Given the description of an element on the screen output the (x, y) to click on. 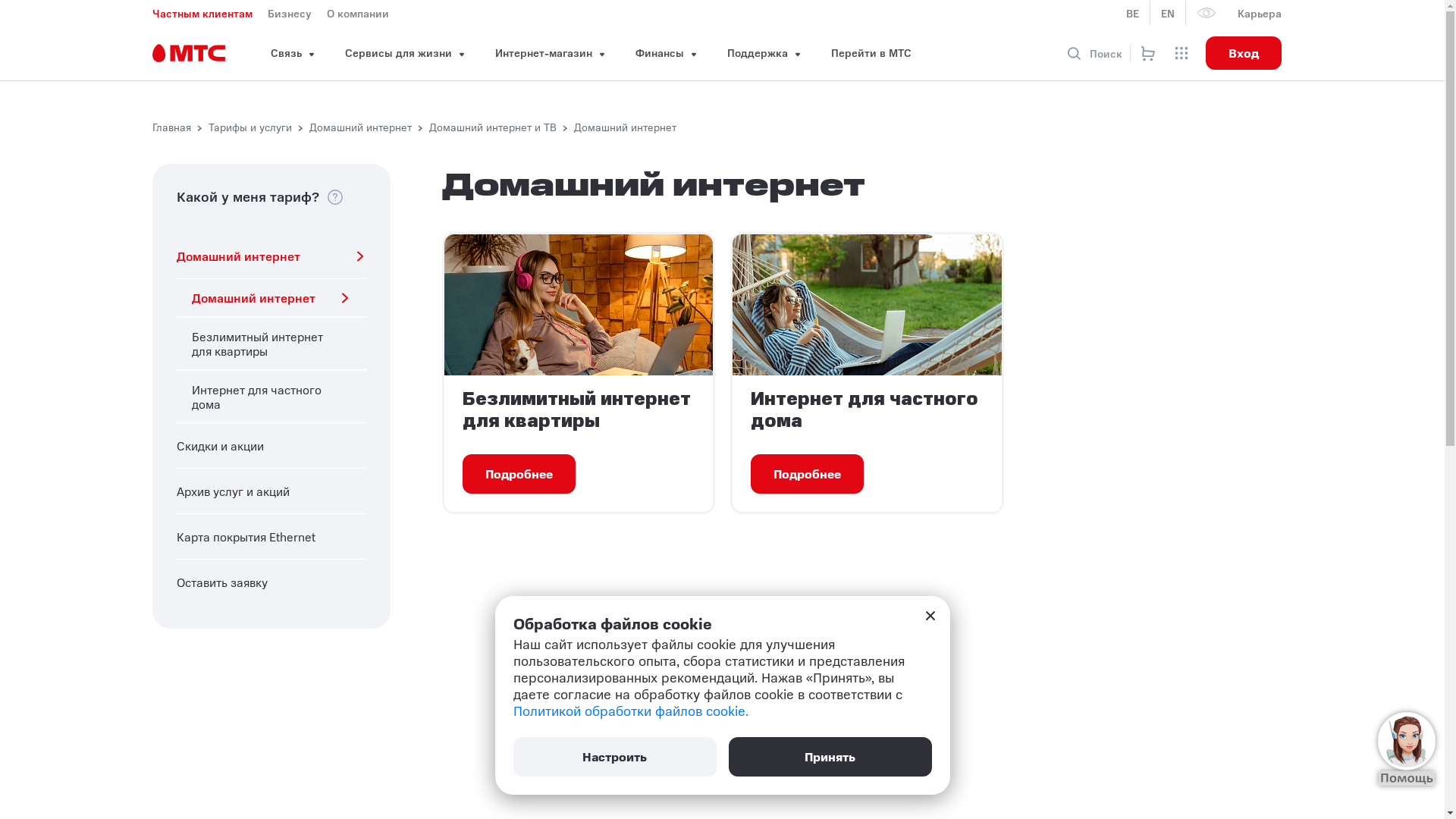
BE Element type: text (1132, 12)
EN Element type: text (1168, 12)
